Given the description of an element on the screen output the (x, y) to click on. 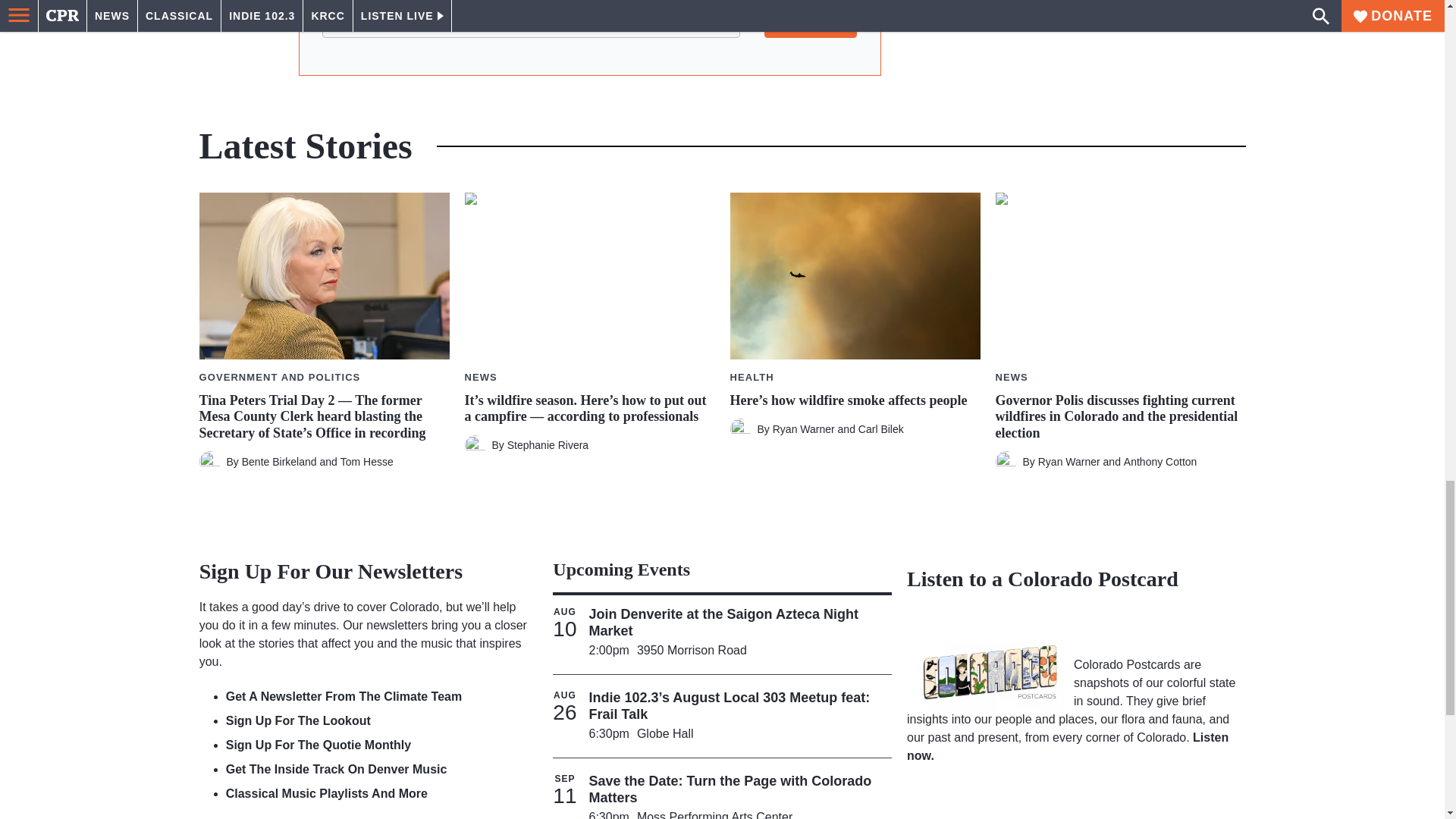
newsArticleSignup (589, 31)
